Given the description of an element on the screen output the (x, y) to click on. 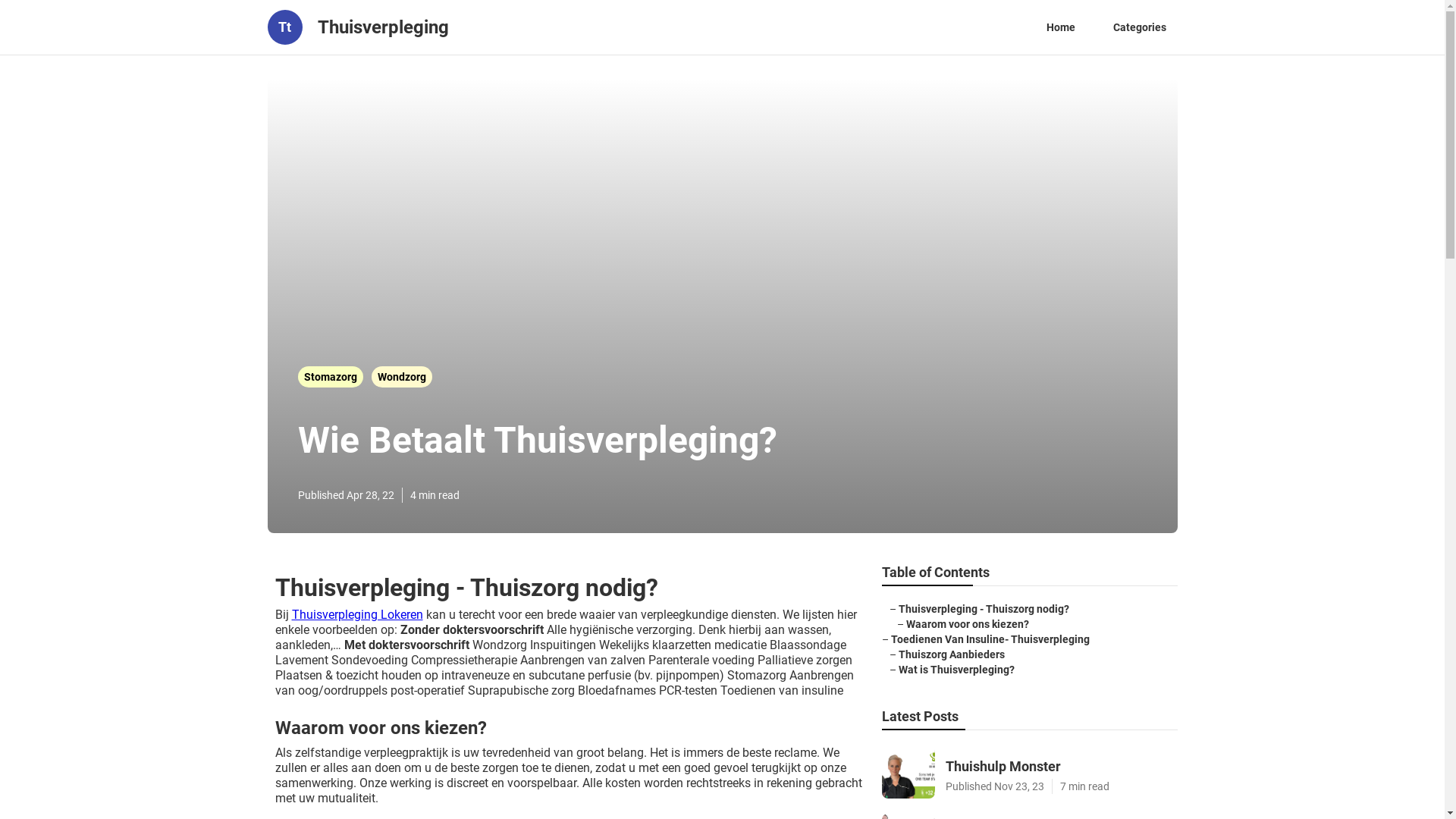
Thuisverpleging - Thuiszorg nodig? Element type: text (982, 608)
Thuishulp Monster
Published Nov 23, 23
7 min read Element type: text (1028, 771)
Toedienen Van Insuline- Thuisverpleging Element type: text (989, 639)
Wat is Thuisverpleging? Element type: text (955, 669)
Wondzorg Element type: text (401, 376)
Waarom voor ons kiezen? Element type: text (966, 624)
Categories Element type: text (1138, 26)
Stomazorg Element type: text (330, 376)
Thuisverpleging Lokeren Element type: text (356, 614)
Home Element type: text (1059, 26)
Thuiszorg Aanbieders Element type: text (950, 654)
